Given the description of an element on the screen output the (x, y) to click on. 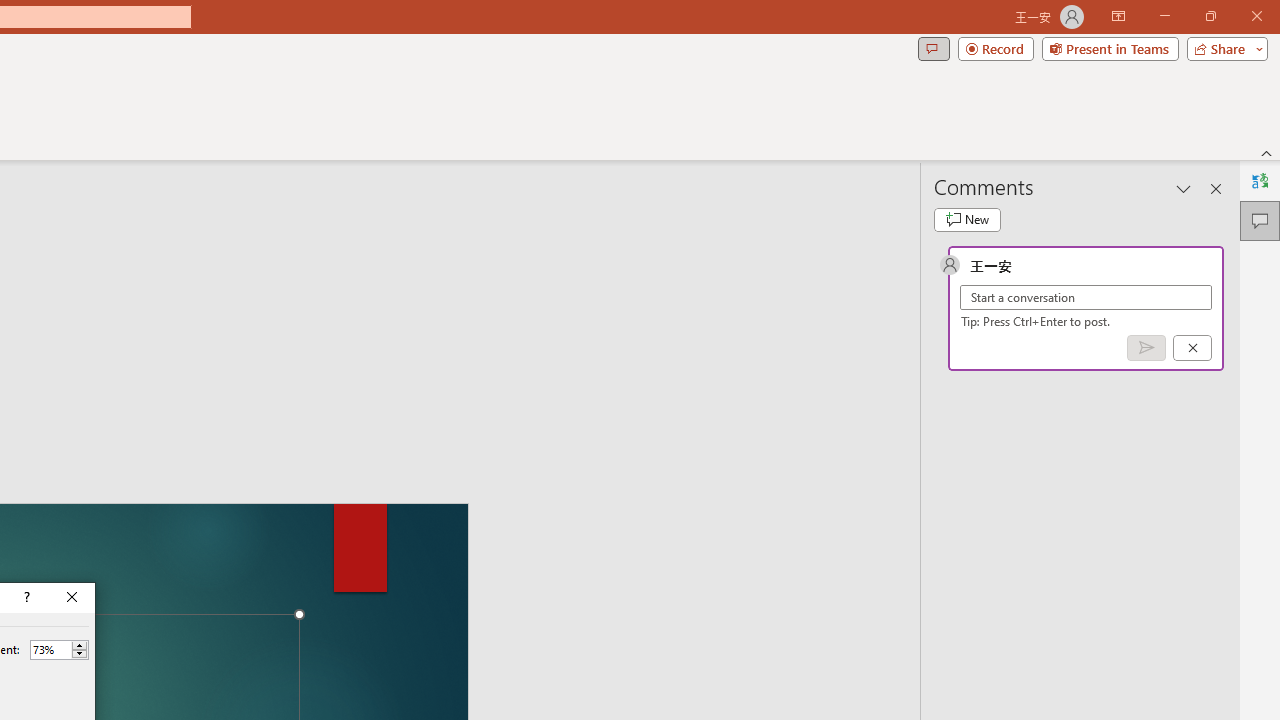
Cancel (1192, 347)
Percent (50, 649)
Less (79, 654)
